Given the description of an element on the screen output the (x, y) to click on. 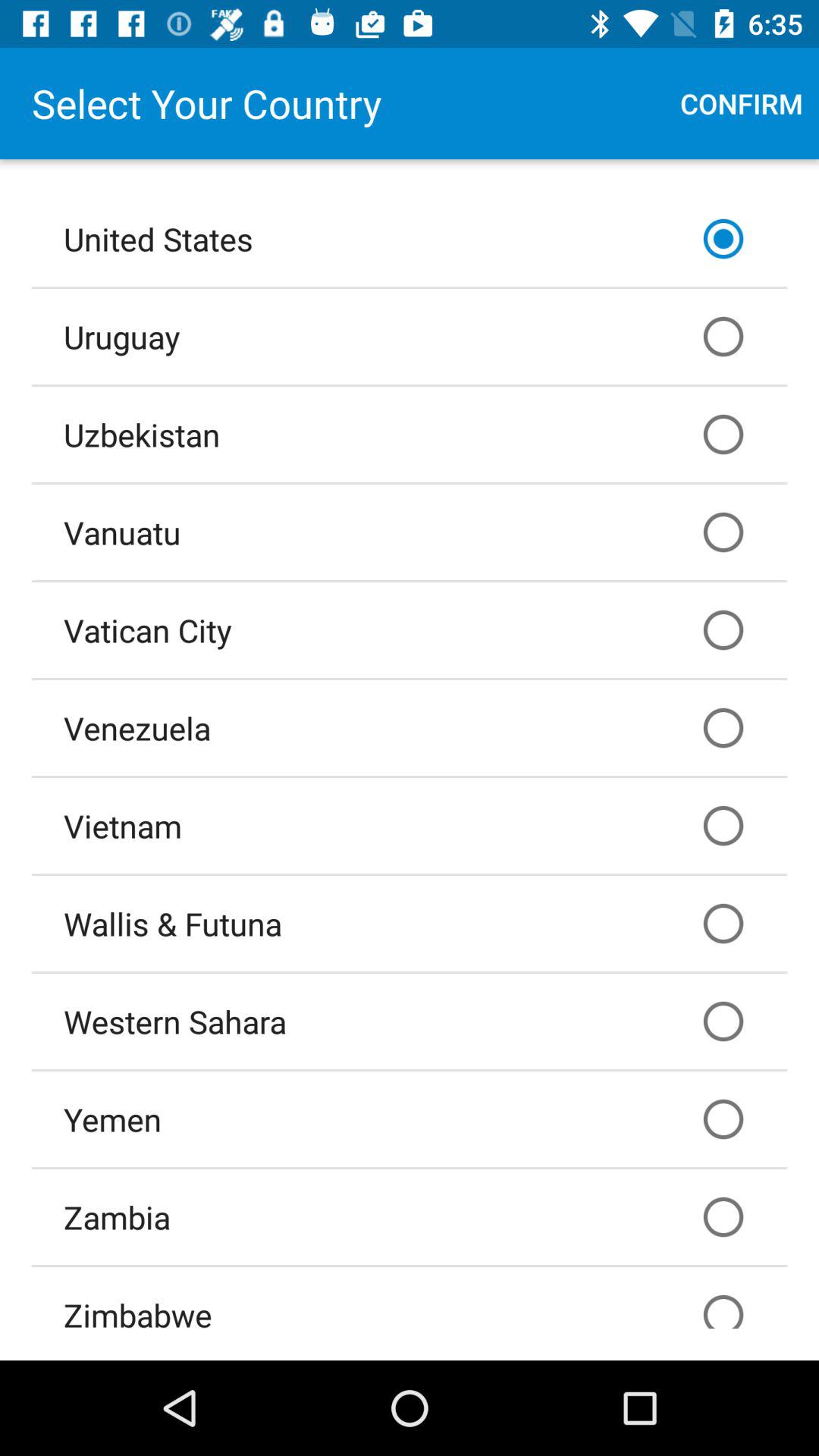
jump to yemen icon (409, 1119)
